Given the description of an element on the screen output the (x, y) to click on. 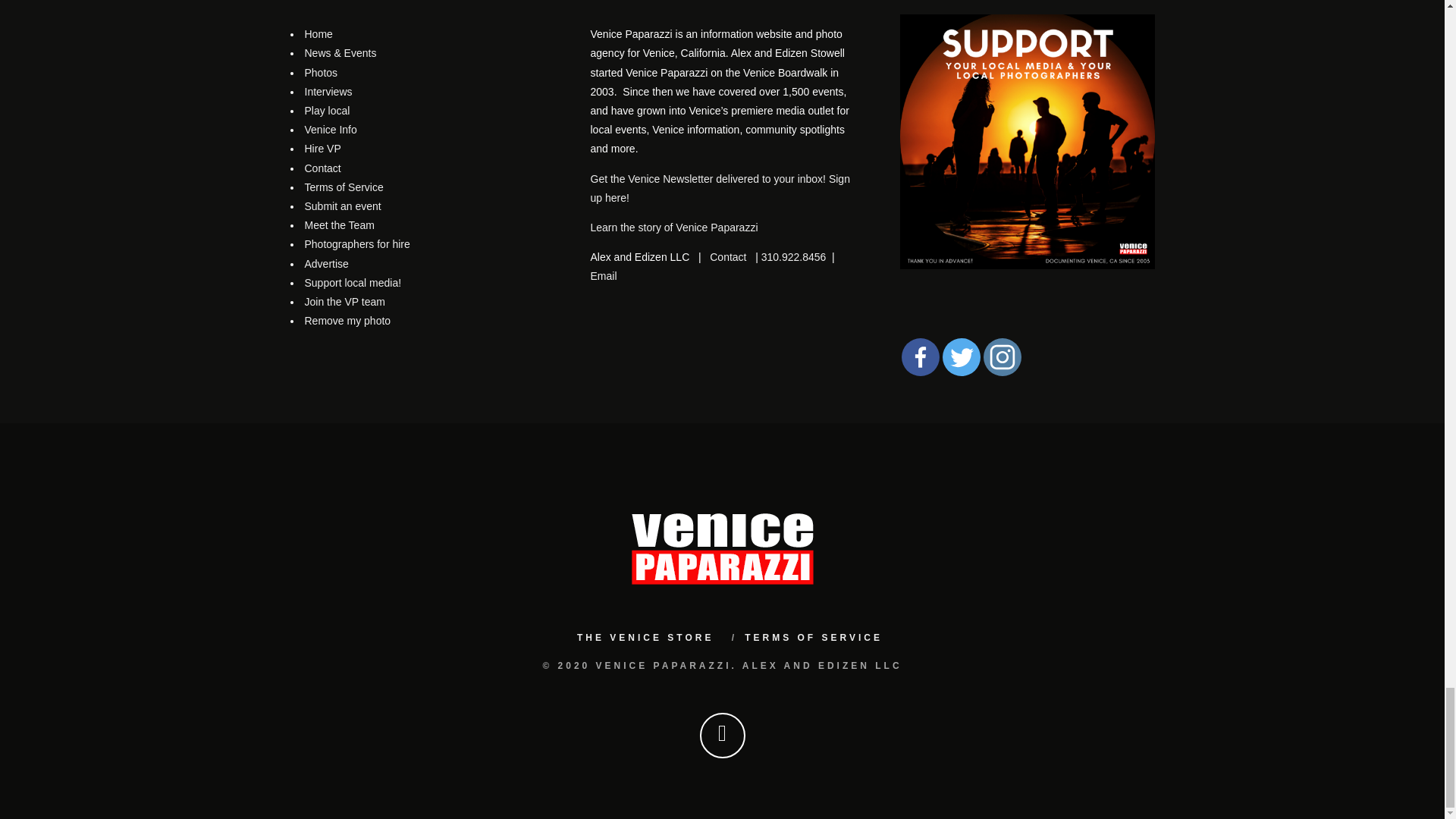
Instagram (1001, 356)
Facebook (920, 356)
Twitter (960, 356)
